Given the description of an element on the screen output the (x, y) to click on. 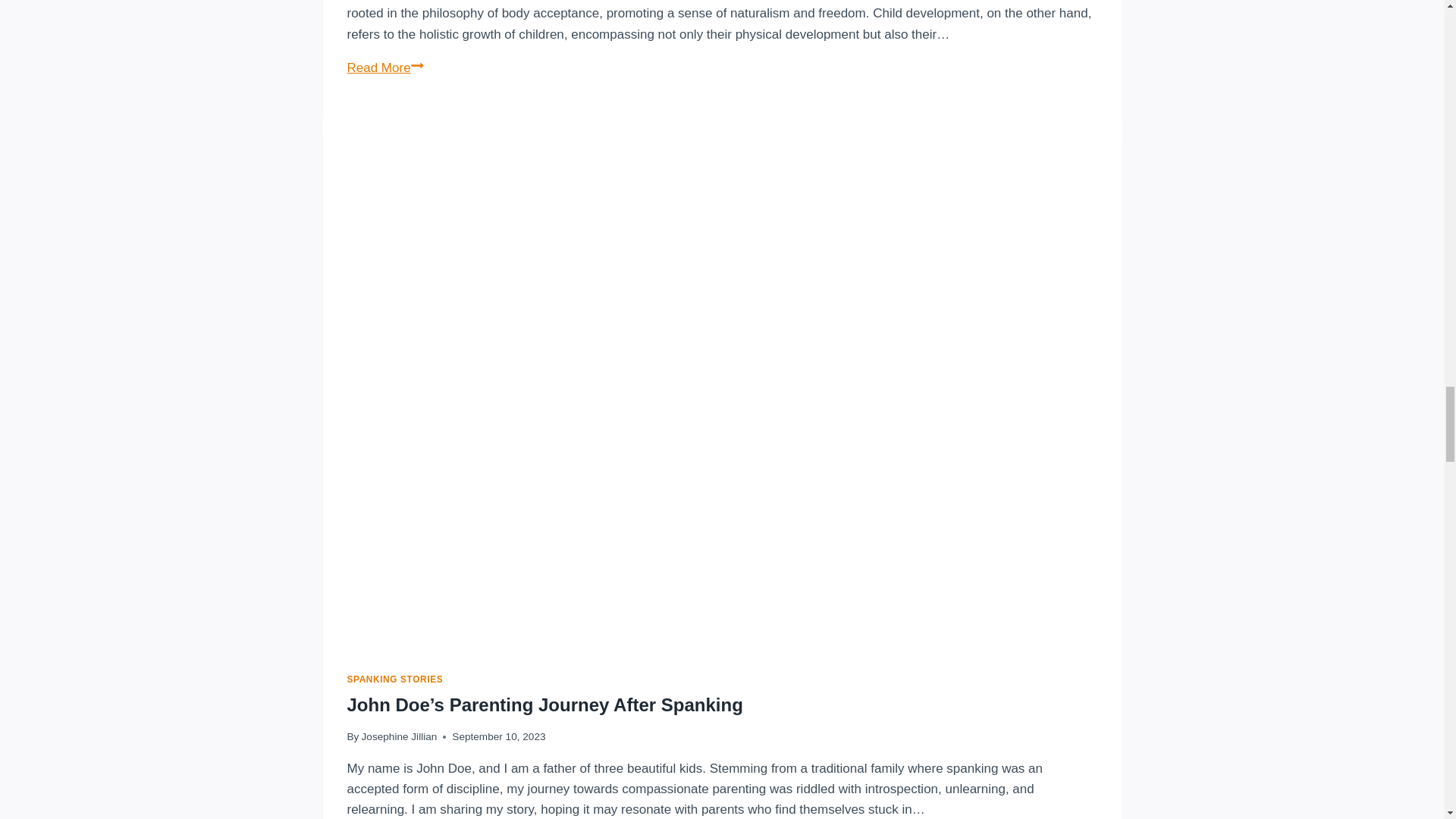
Josephine Jillian (399, 736)
SPANKING STORIES (395, 679)
